Given the description of an element on the screen output the (x, y) to click on. 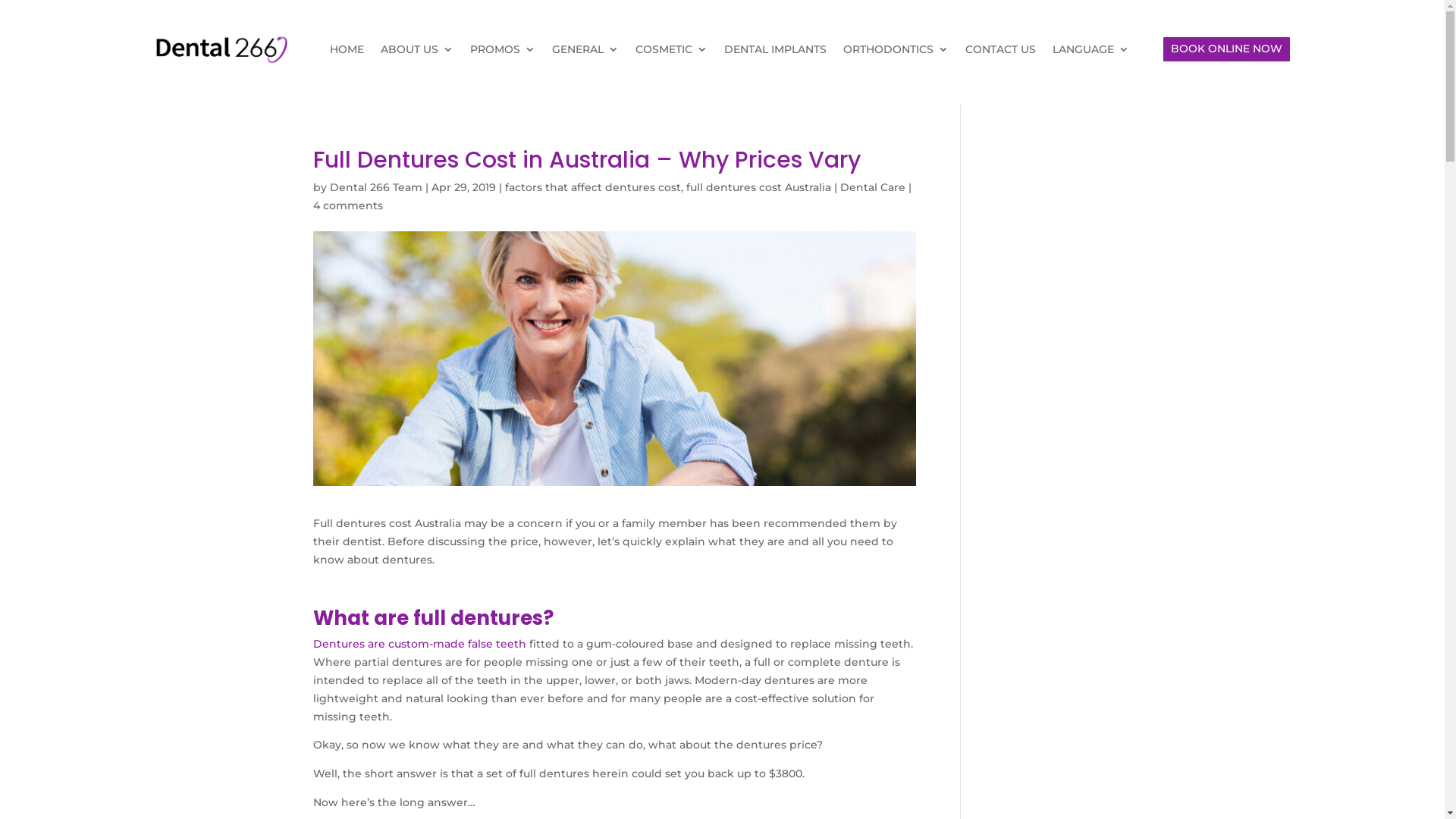
ORTHODONTICS Element type: text (895, 49)
ABOUT US Element type: text (416, 49)
Dental 266 Team Element type: text (375, 187)
HOME Element type: text (346, 49)
factors that affect dentures cost Element type: text (592, 187)
BOOK ONLINE NOW Element type: text (1226, 48)
COSMETIC Element type: text (671, 49)
LANGUAGE Element type: text (1090, 49)
PROMOS Element type: text (502, 49)
full dentures cost Australia Element type: text (757, 187)
CONTACT US Element type: text (1000, 49)
Dentures are custom-made false teeth Element type: text (418, 643)
4 comments Element type: text (347, 205)
DENTAL IMPLANTS Element type: text (775, 49)
GENERAL Element type: text (585, 49)
Dental Care Element type: text (872, 187)
